Given the description of an element on the screen output the (x, y) to click on. 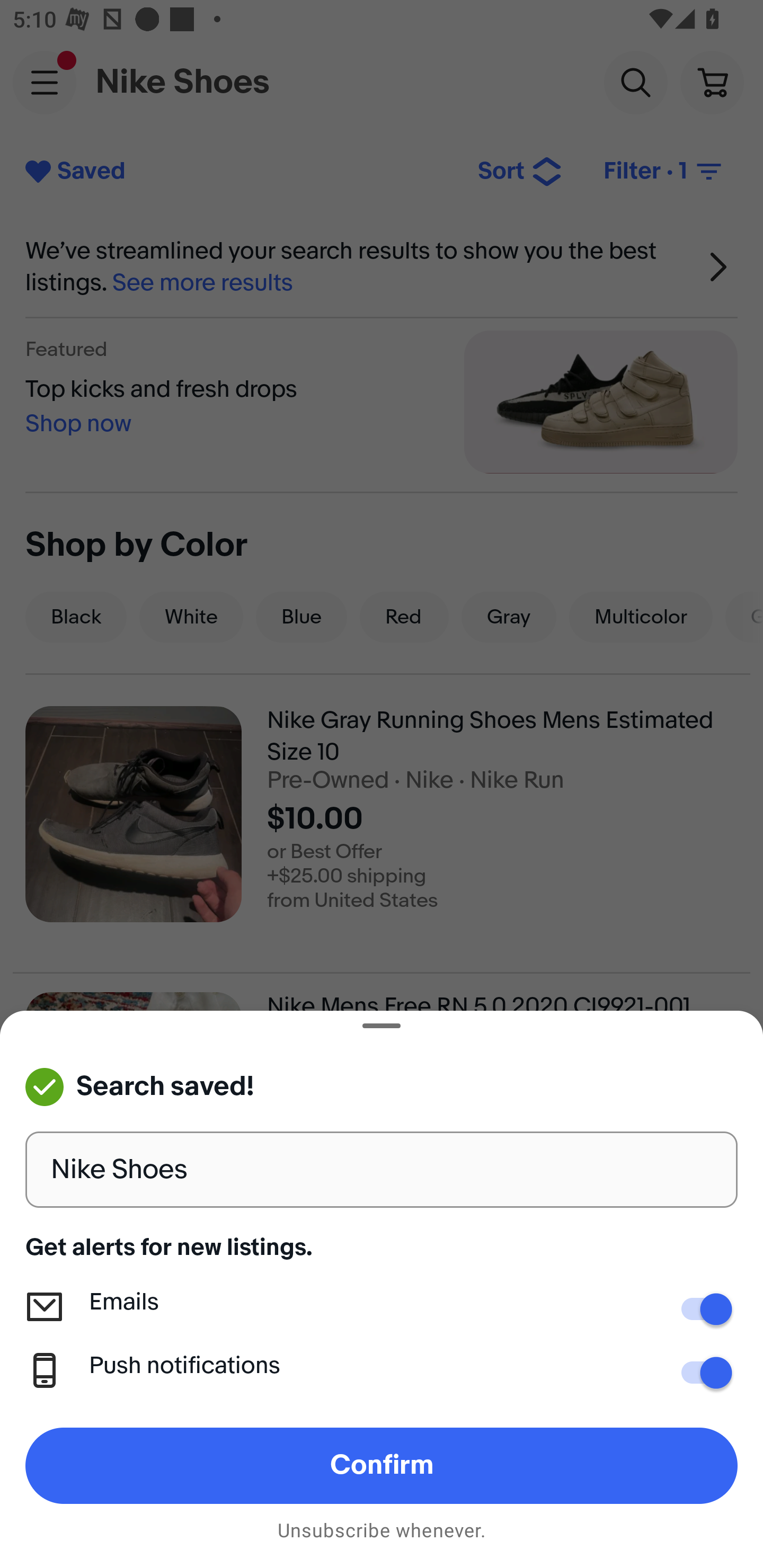
Emails (700, 1309)
Push notifications (700, 1372)
Confirm (381, 1464)
